Given the description of an element on the screen output the (x, y) to click on. 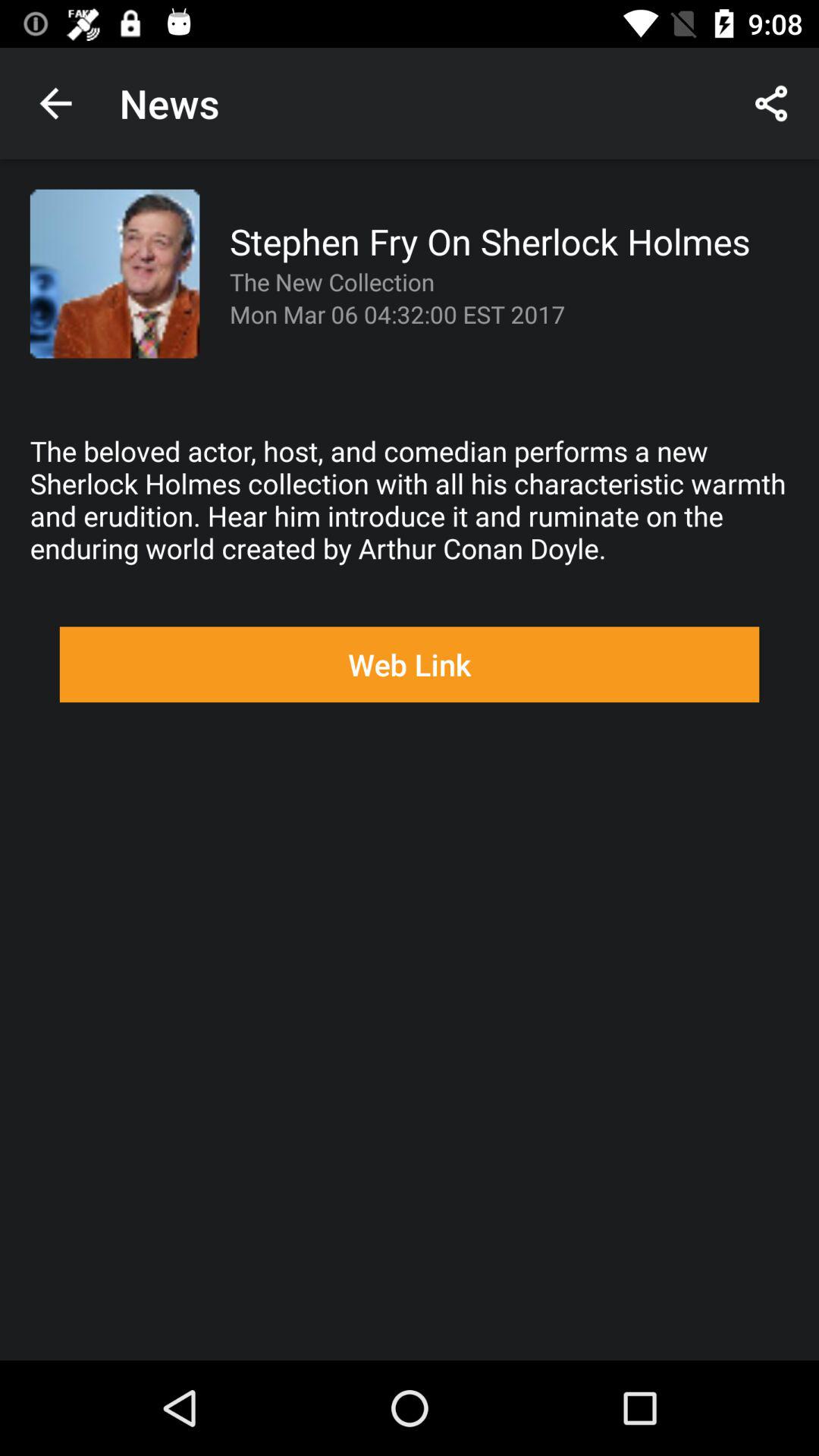
launch the icon next to news app (771, 103)
